Given the description of an element on the screen output the (x, y) to click on. 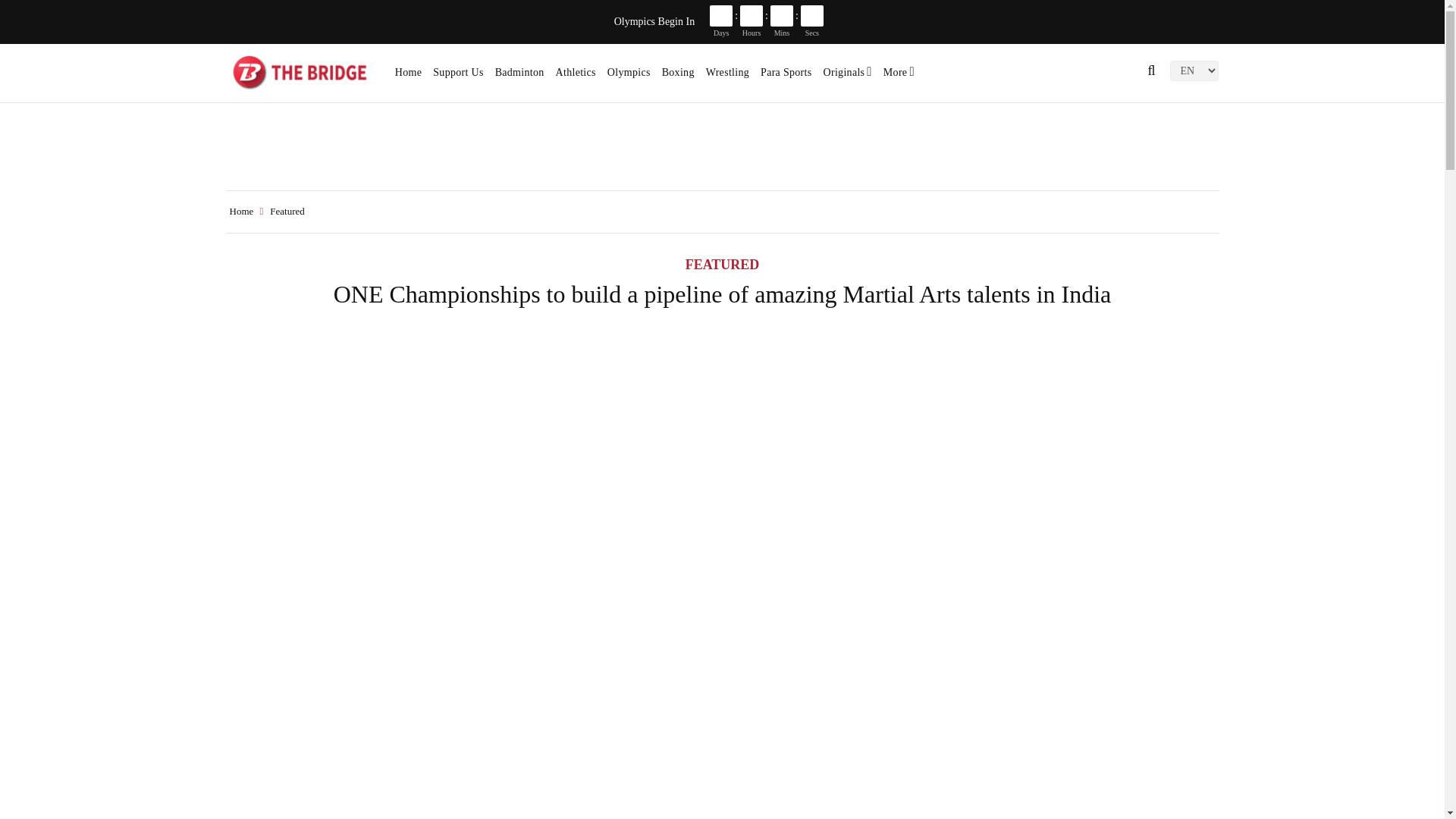
Support Us (457, 77)
Wrestling (727, 77)
Badminton (519, 77)
Para Sports (785, 77)
Olympics (628, 77)
Originals (848, 77)
